Given the description of an element on the screen output the (x, y) to click on. 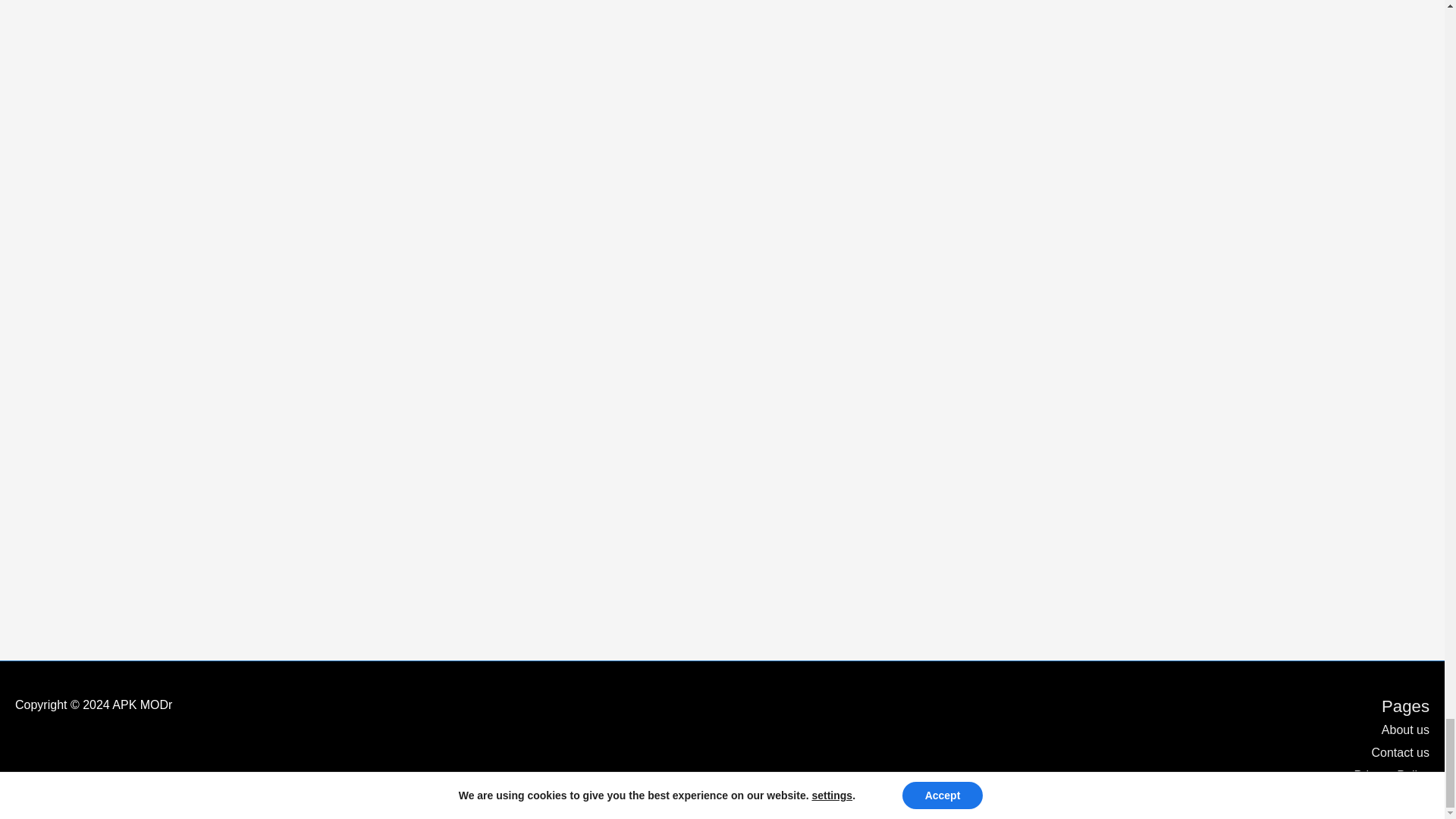
Advertisement (174, 70)
About us (1399, 729)
Privacy Policy (1384, 775)
Contact us (1394, 752)
